Given the description of an element on the screen output the (x, y) to click on. 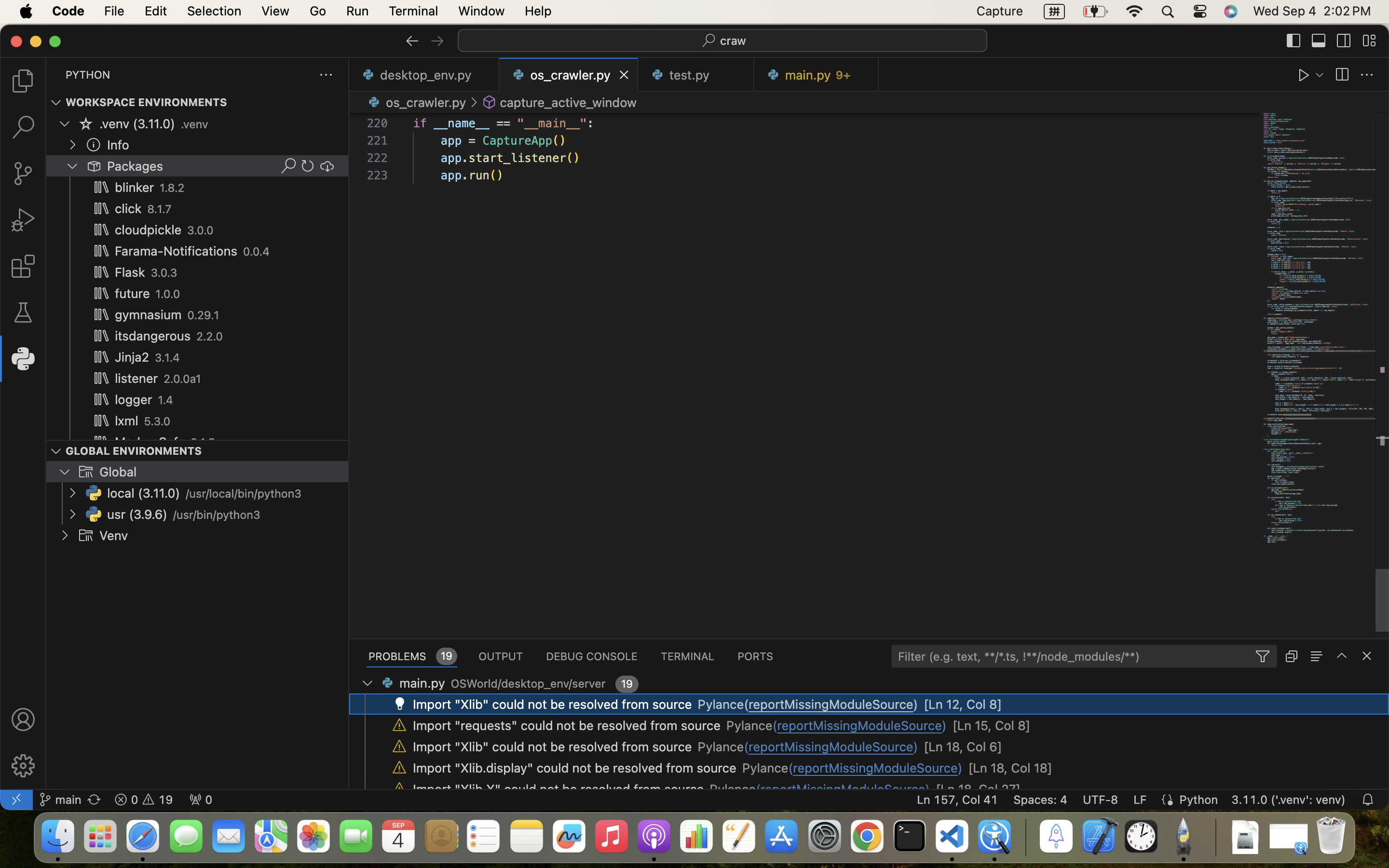
Info Element type: AXStaticText (118, 144)
 Element type: AXButton (398, 703)
 Element type: AXButton (288, 165)
[Ln 18, Col 6] Element type: AXStaticText (963, 746)
itsdangerous Element type: AXStaticText (152, 335)
